Given the description of an element on the screen output the (x, y) to click on. 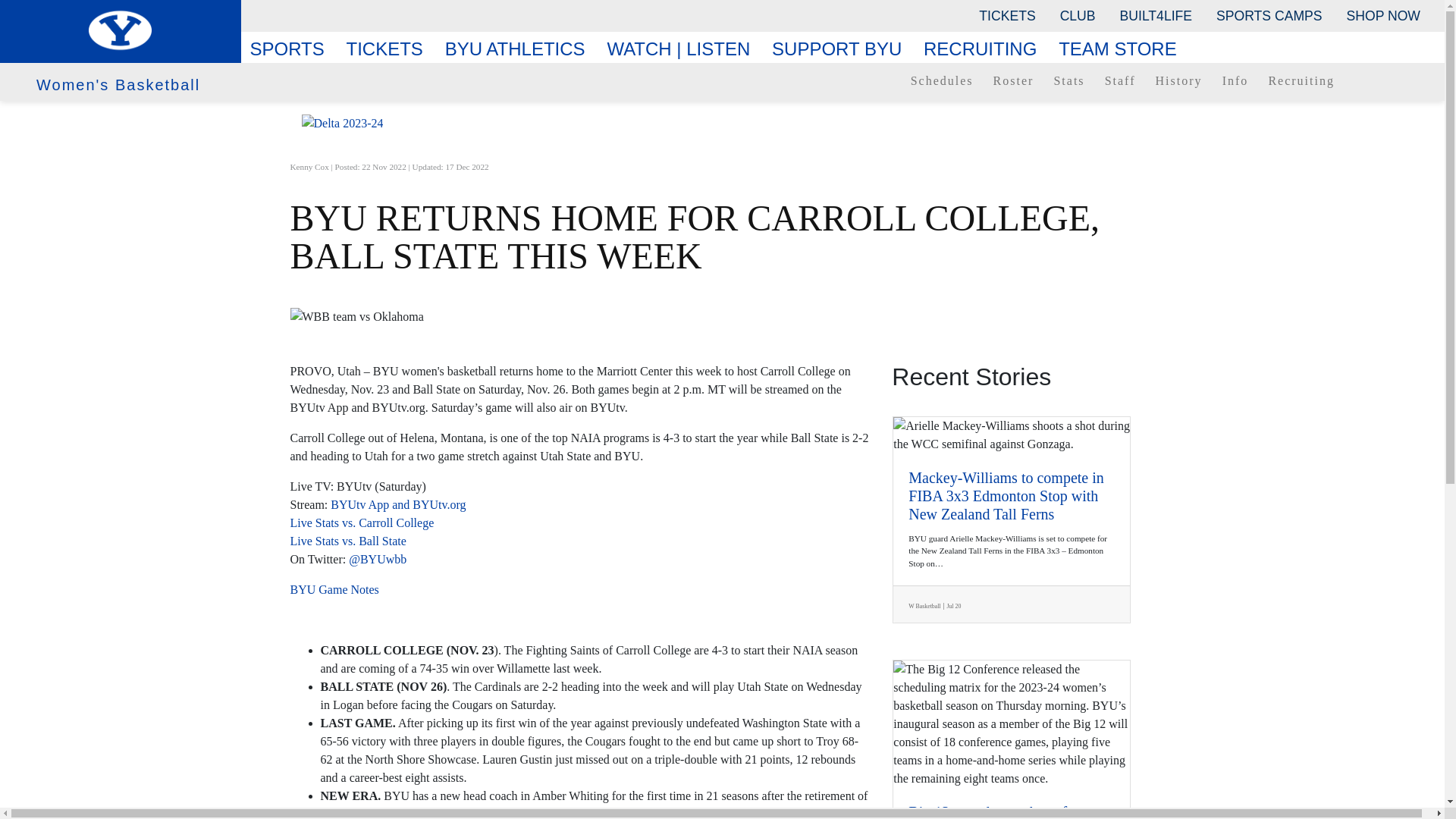
SPORTS (292, 49)
BUILT4LIFE (1156, 15)
SPORTS CAMPS (1268, 15)
CLUB (1078, 15)
SHOP NOW (1383, 15)
TICKETS (1006, 15)
